Given the description of an element on the screen output the (x, y) to click on. 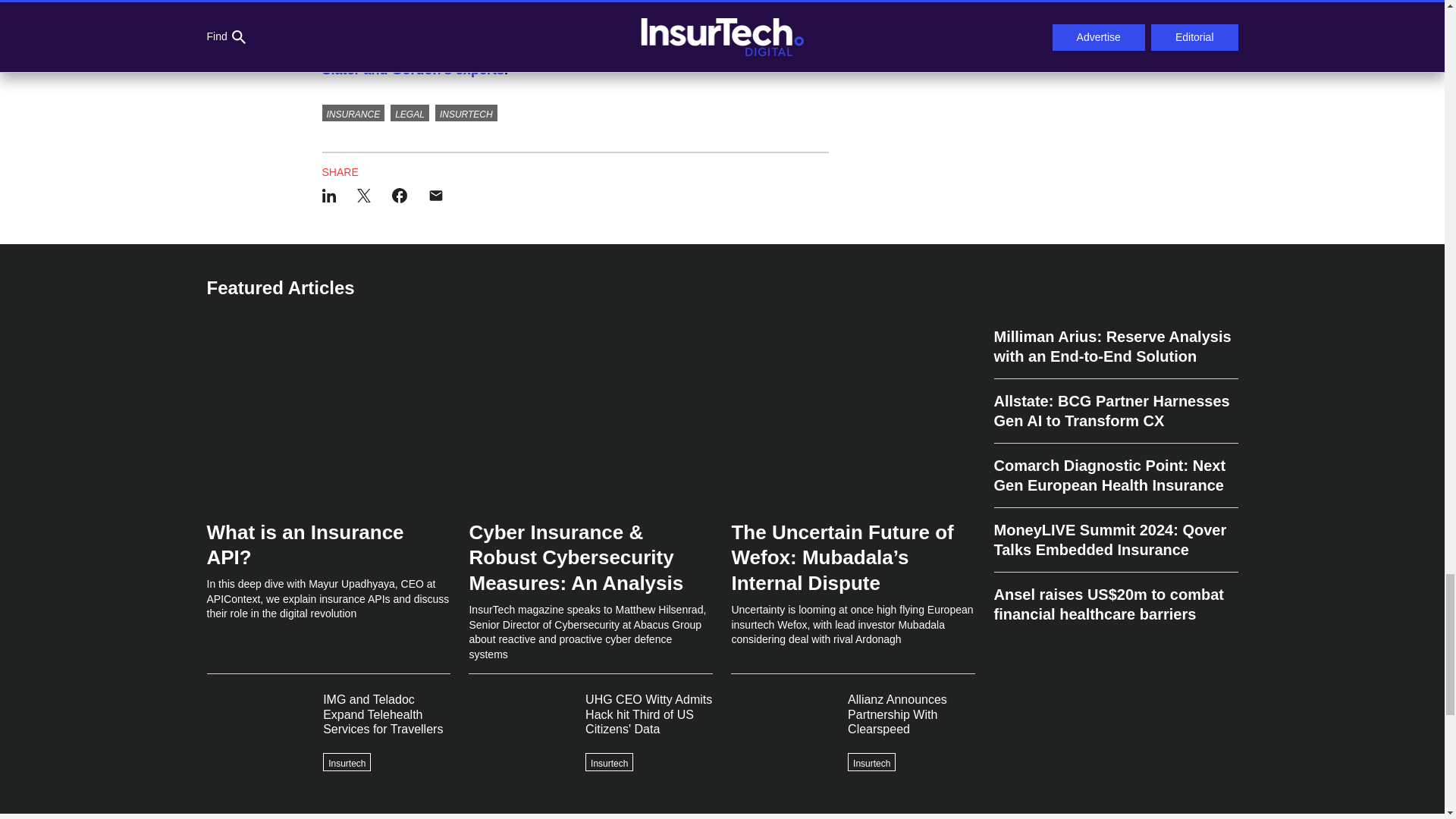
defence - criminal law (550, 7)
INSURTECH (466, 112)
INSURANCE (352, 112)
will and trust services (726, 7)
property conveyancing (396, 7)
LEGAL (409, 112)
Milliman Arius: Reserve Analysis with an End-to-End Solution (1114, 352)
